Given the description of an element on the screen output the (x, y) to click on. 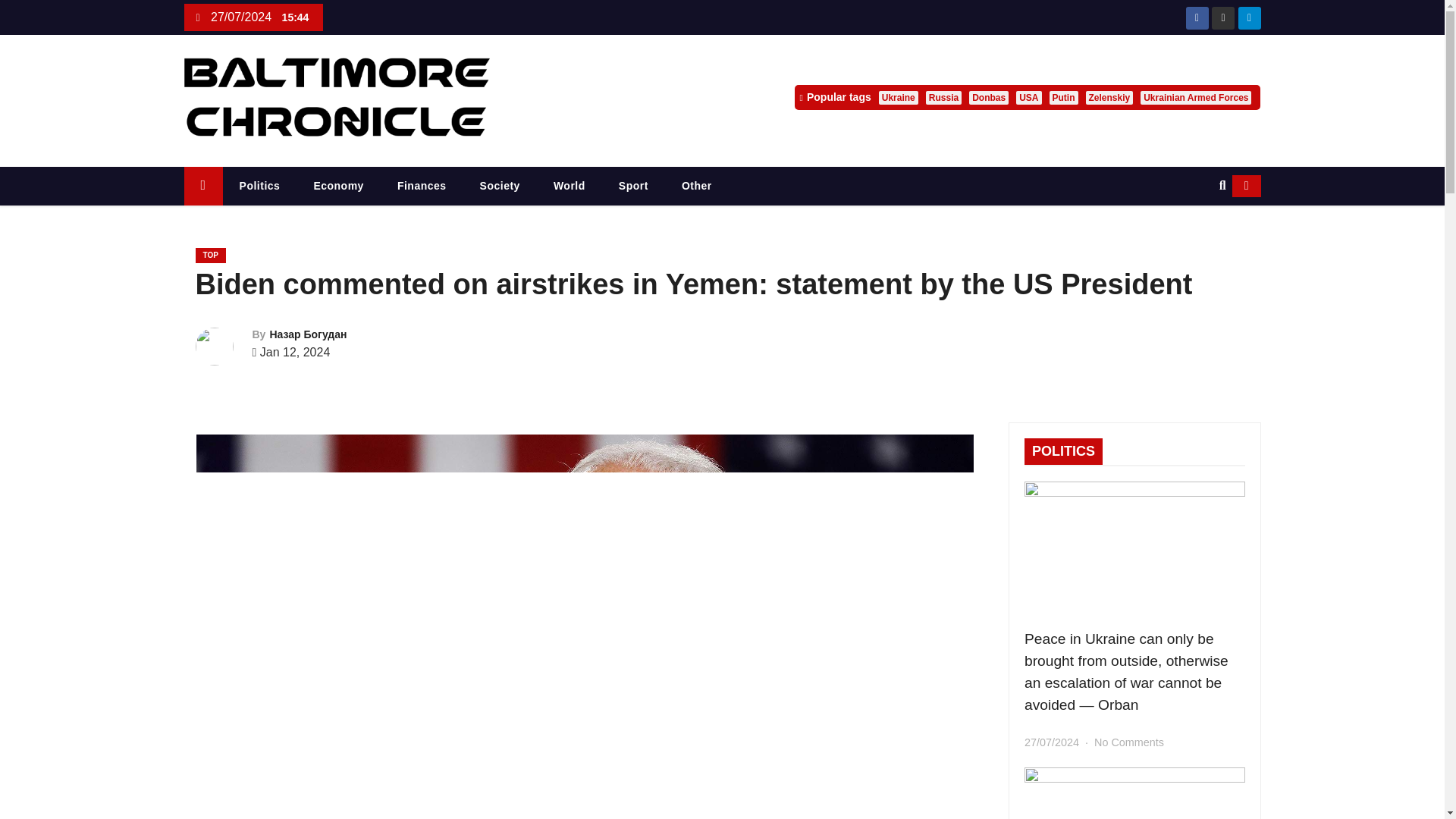
Donbas (989, 97)
Finances (421, 186)
Politics (259, 186)
Ukrainian Armed Forces (1195, 97)
USA (1028, 97)
Russia (943, 97)
World (569, 186)
Economy (338, 186)
Politics (259, 186)
Putin (1063, 97)
Sport (633, 186)
Zelenskiy (1110, 97)
TOP (210, 255)
World (569, 186)
Other (697, 186)
